Given the description of an element on the screen output the (x, y) to click on. 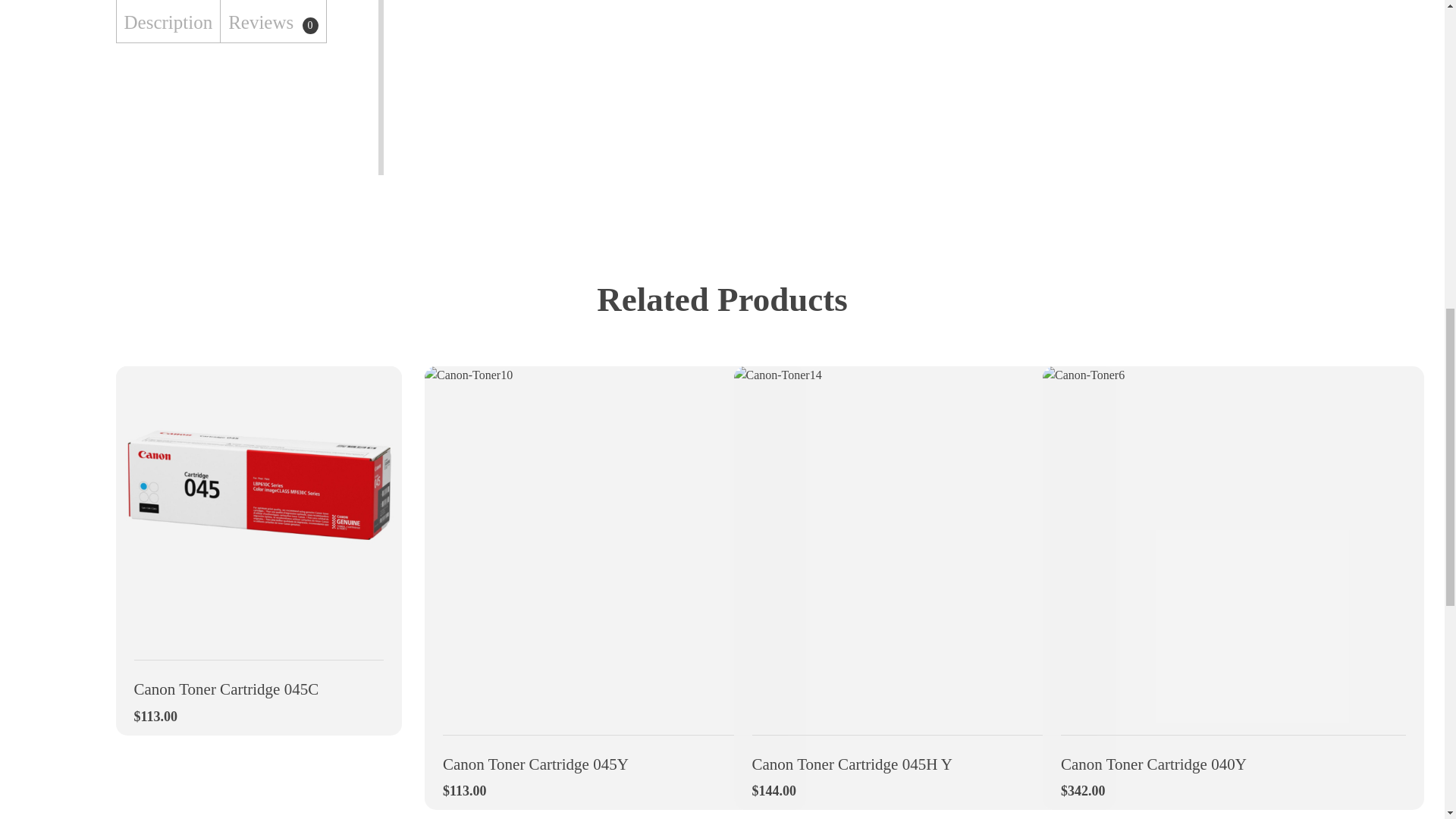
Canon Toner Cartridge 045H Y (924, 754)
Canon Toner Cartridge 045C (258, 680)
Reviews 0 (272, 21)
Canon Toner Cartridge 045Y (614, 754)
Description (168, 21)
